Given the description of an element on the screen output the (x, y) to click on. 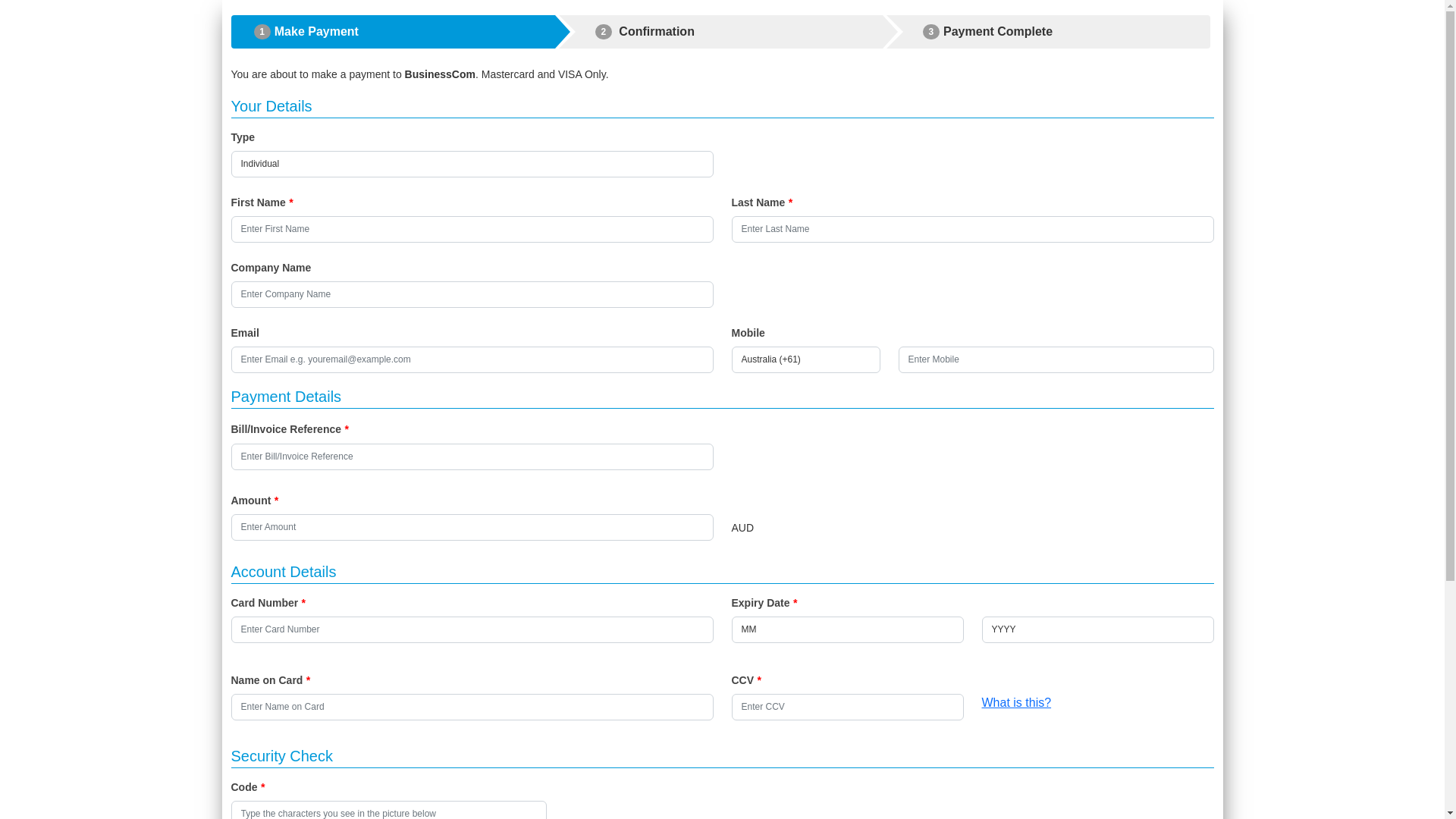
1Make Payment Element type: text (392, 31)
3Payment Complete Element type: text (1048, 31)
2 Confirmation Element type: text (720, 31)
What is this? Element type: text (1016, 702)
